Given the description of an element on the screen output the (x, y) to click on. 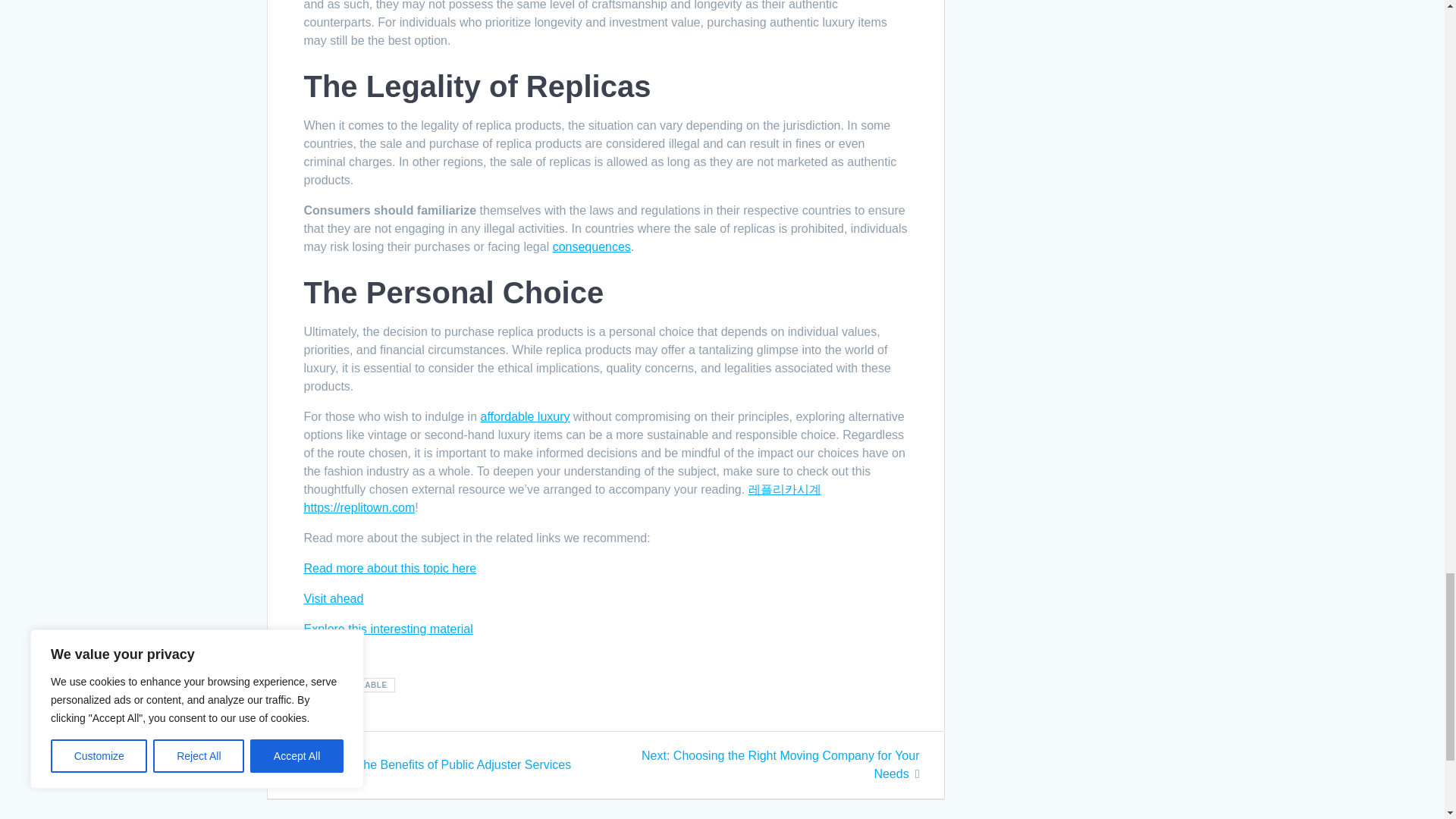
affordable luxury (525, 416)
Visit ahead (332, 598)
Read more about this topic here (389, 567)
consequences (591, 246)
Explore this interesting material (386, 628)
